Given the description of an element on the screen output the (x, y) to click on. 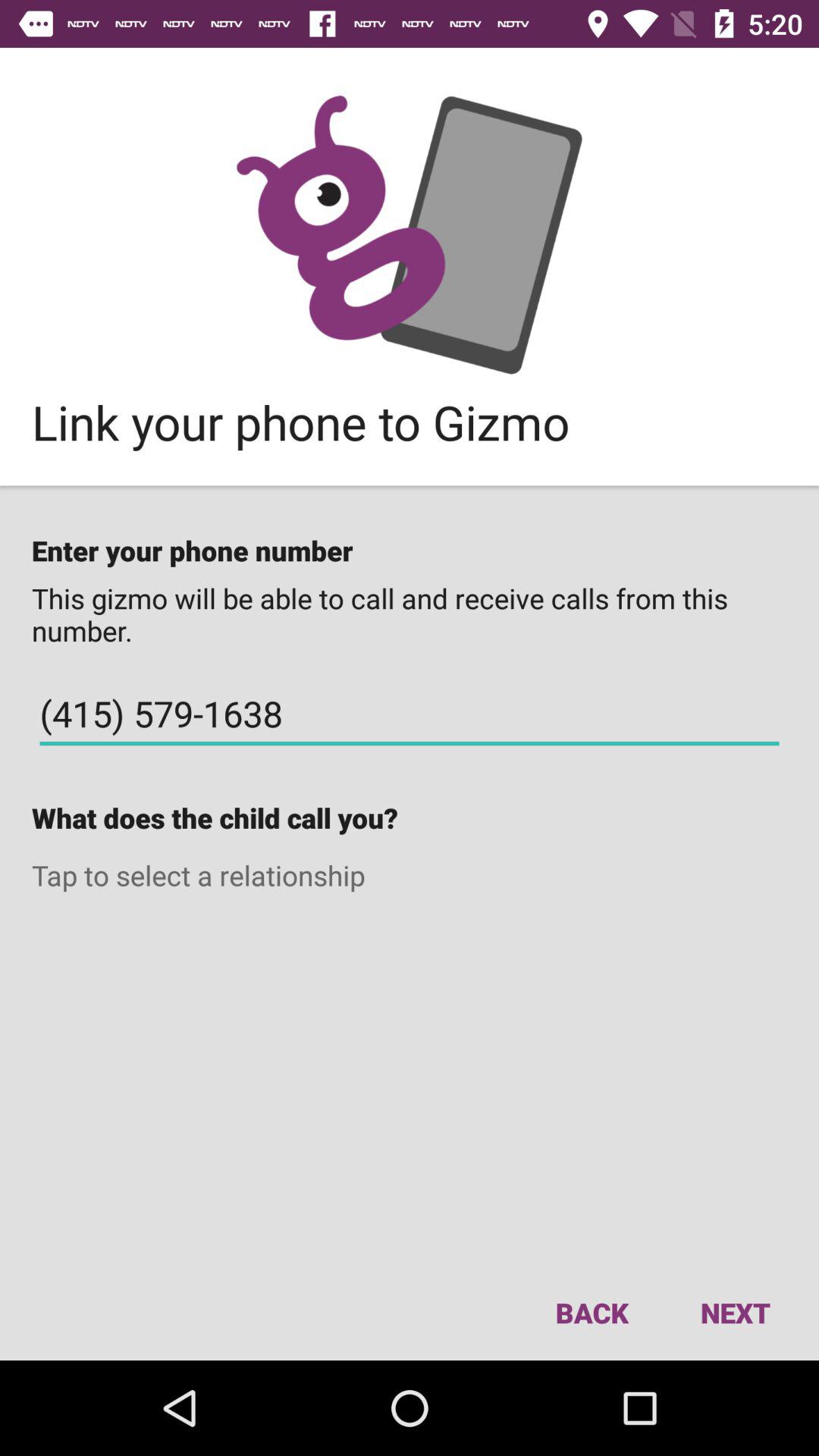
open the icon next to the next icon (591, 1312)
